Given the description of an element on the screen output the (x, y) to click on. 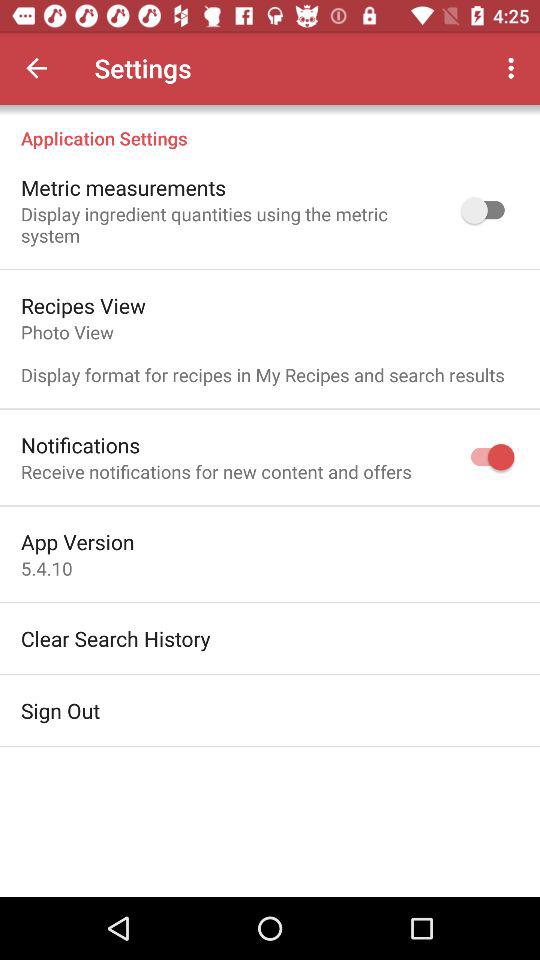
jump to application settings item (270, 127)
